Given the description of an element on the screen output the (x, y) to click on. 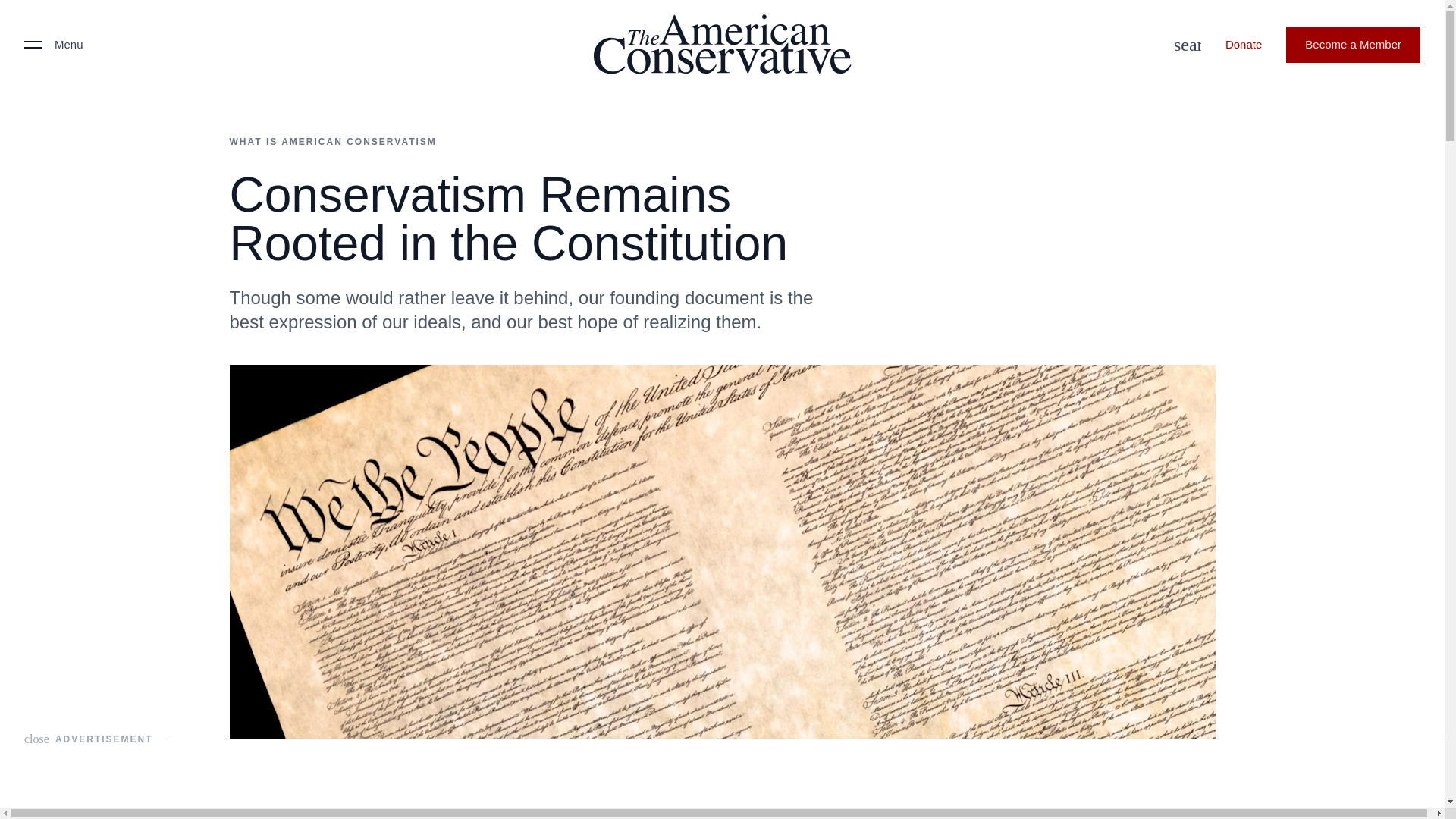
3rd party ad content (721, 773)
search (1182, 44)
Donate (1243, 44)
Menu (53, 44)
Become a Member (1353, 44)
